Given the description of an element on the screen output the (x, y) to click on. 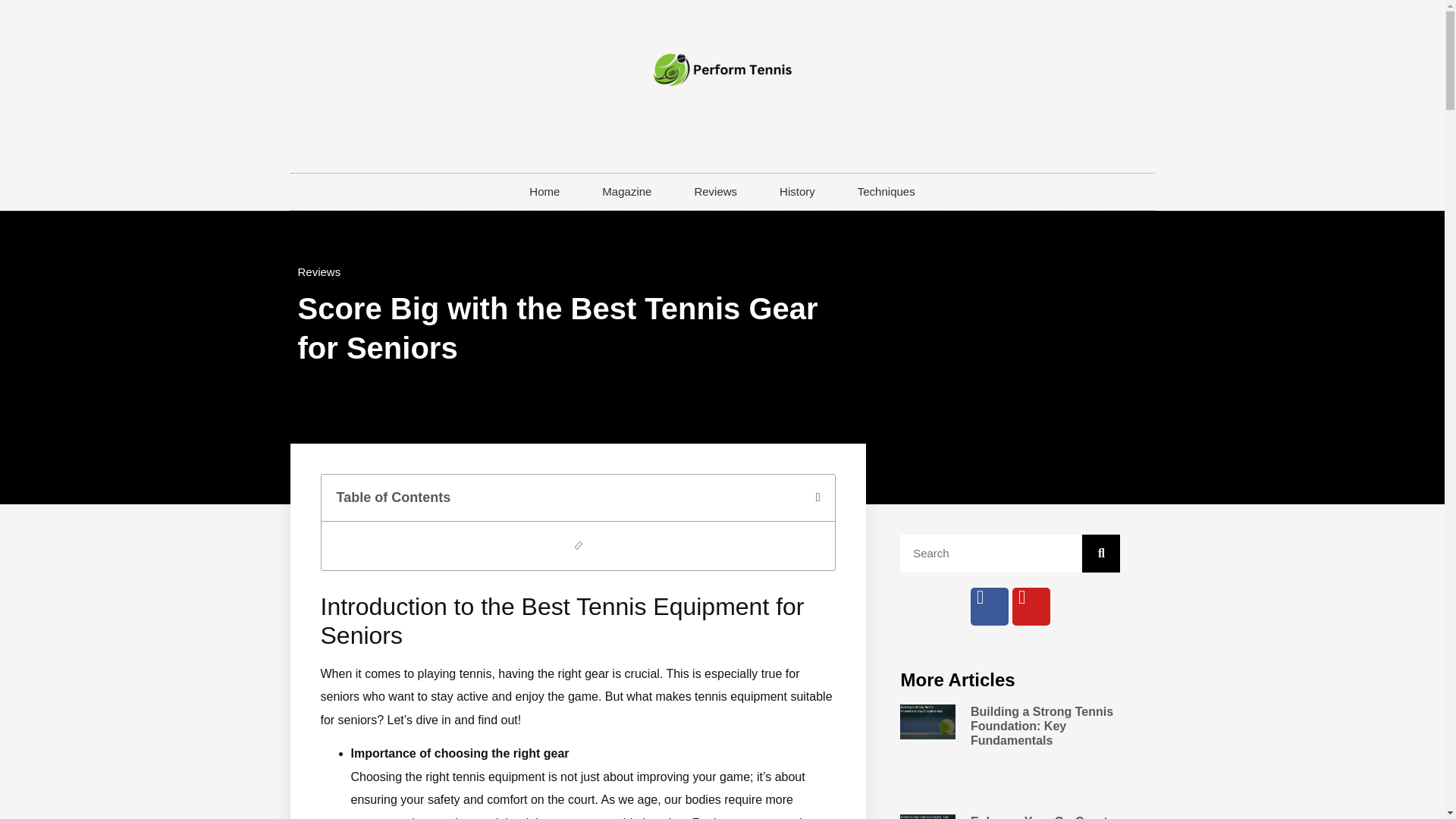
Magazine (626, 191)
Enhance Your On-Court Agility: Tips for Peak Performance (1039, 816)
Reviews (318, 271)
Building a Strong Tennis Foundation: Key Fundamentals (1042, 725)
Home (544, 191)
Techniques (885, 191)
History (796, 191)
Reviews (715, 191)
